Given the description of an element on the screen output the (x, y) to click on. 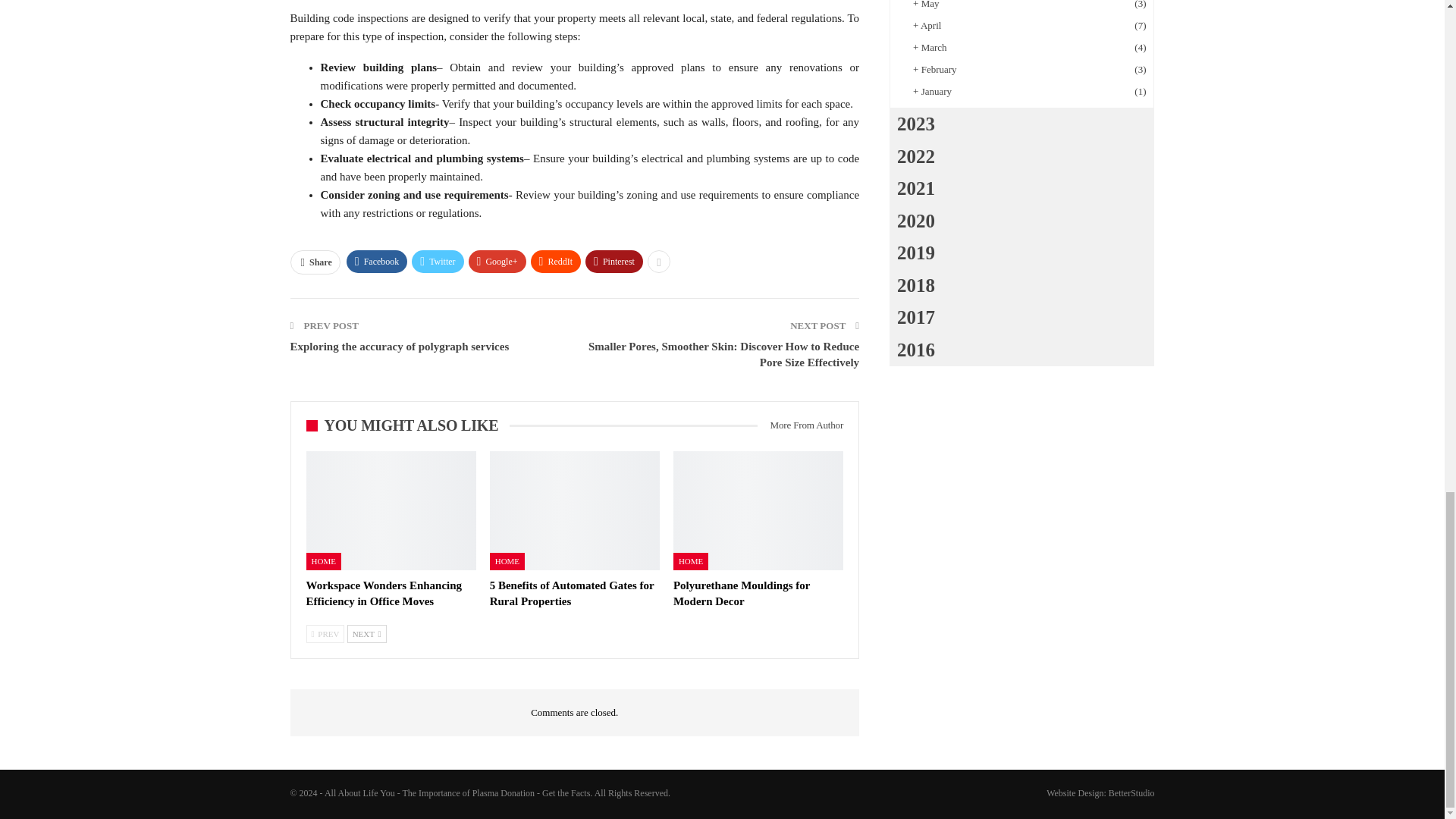
YOU MIGHT ALSO LIKE (408, 426)
Twitter (437, 261)
Previous (325, 633)
Next (367, 633)
Workspace Wonders Enhancing Efficiency in Office Moves (384, 593)
Workspace Wonders Enhancing Efficiency in Office Moves (390, 510)
5 Benefits of Automated Gates for Rural Properties (574, 510)
ReddIt (555, 261)
Polyurethane Mouldings for Modern Decor (757, 510)
